Given the description of an element on the screen output the (x, y) to click on. 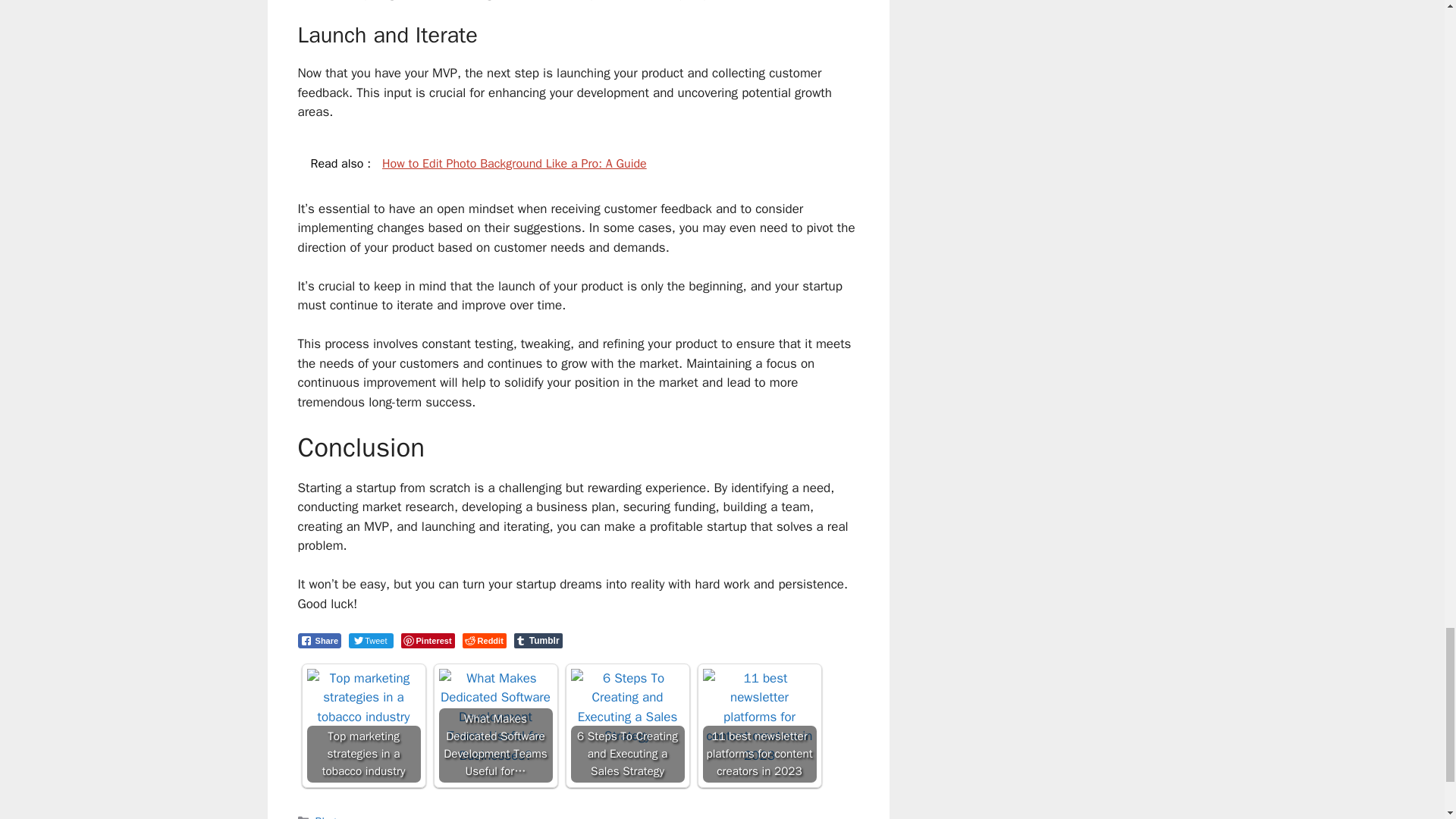
11 best newsletter platforms for content creators in 2023 (758, 725)
Tumblr (537, 640)
6 Steps To Creating and Executing a Sales Strategy (627, 707)
Tweet (371, 640)
Blog (325, 816)
Top marketing strategies in a tobacco industry (362, 725)
Reddit (484, 640)
11 best newsletter platforms for content creators in 2023 (758, 717)
Pinterest (427, 640)
Share (318, 640)
6 Steps To Creating and Executing a Sales Strategy (627, 725)
Top marketing strategies in a tobacco industry (362, 698)
